Given the description of an element on the screen output the (x, y) to click on. 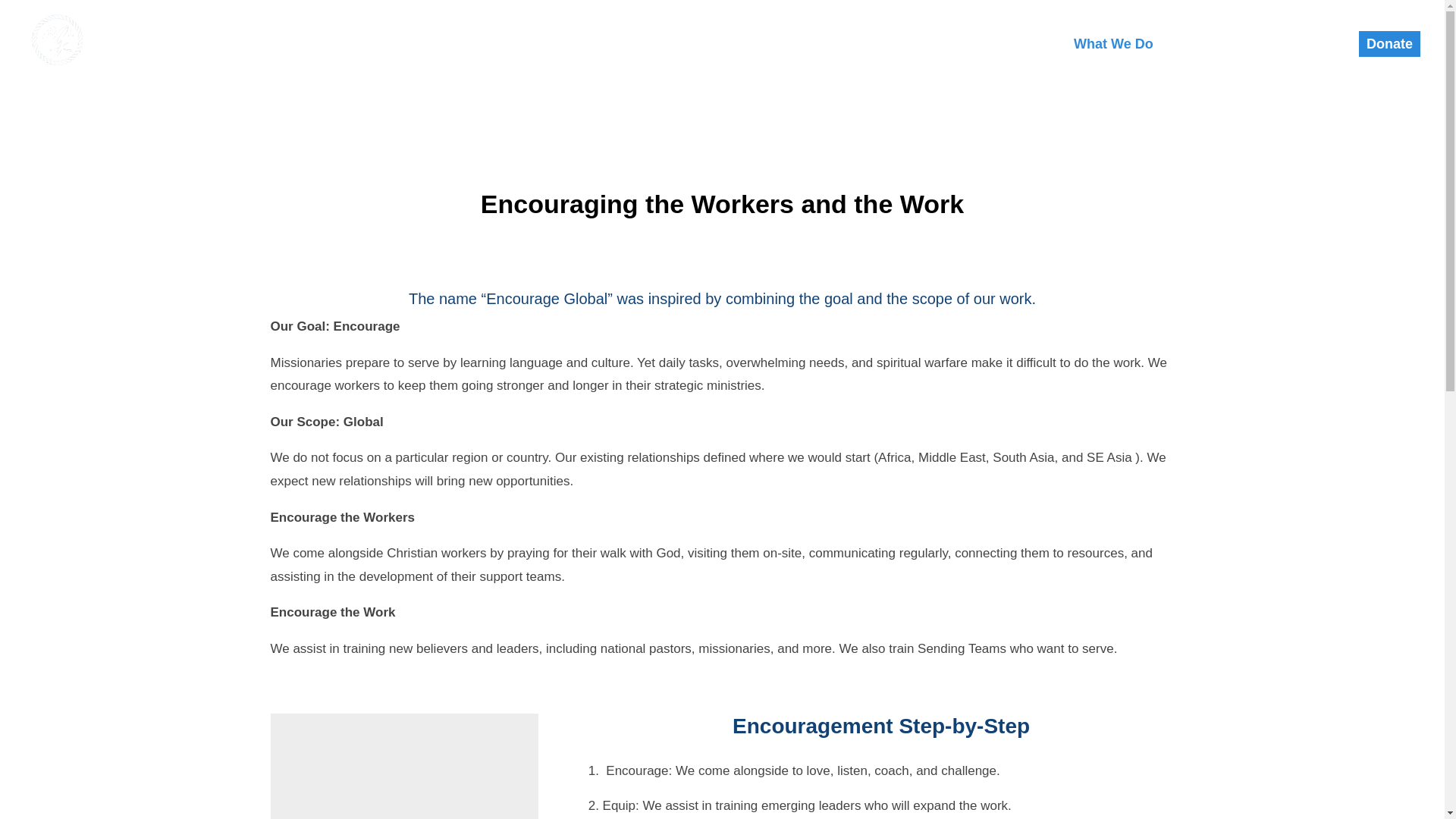
Contact (1312, 59)
Home (1033, 59)
What We Do (1113, 59)
Prayer Partner (1219, 59)
Donate (1389, 43)
